Given the description of an element on the screen output the (x, y) to click on. 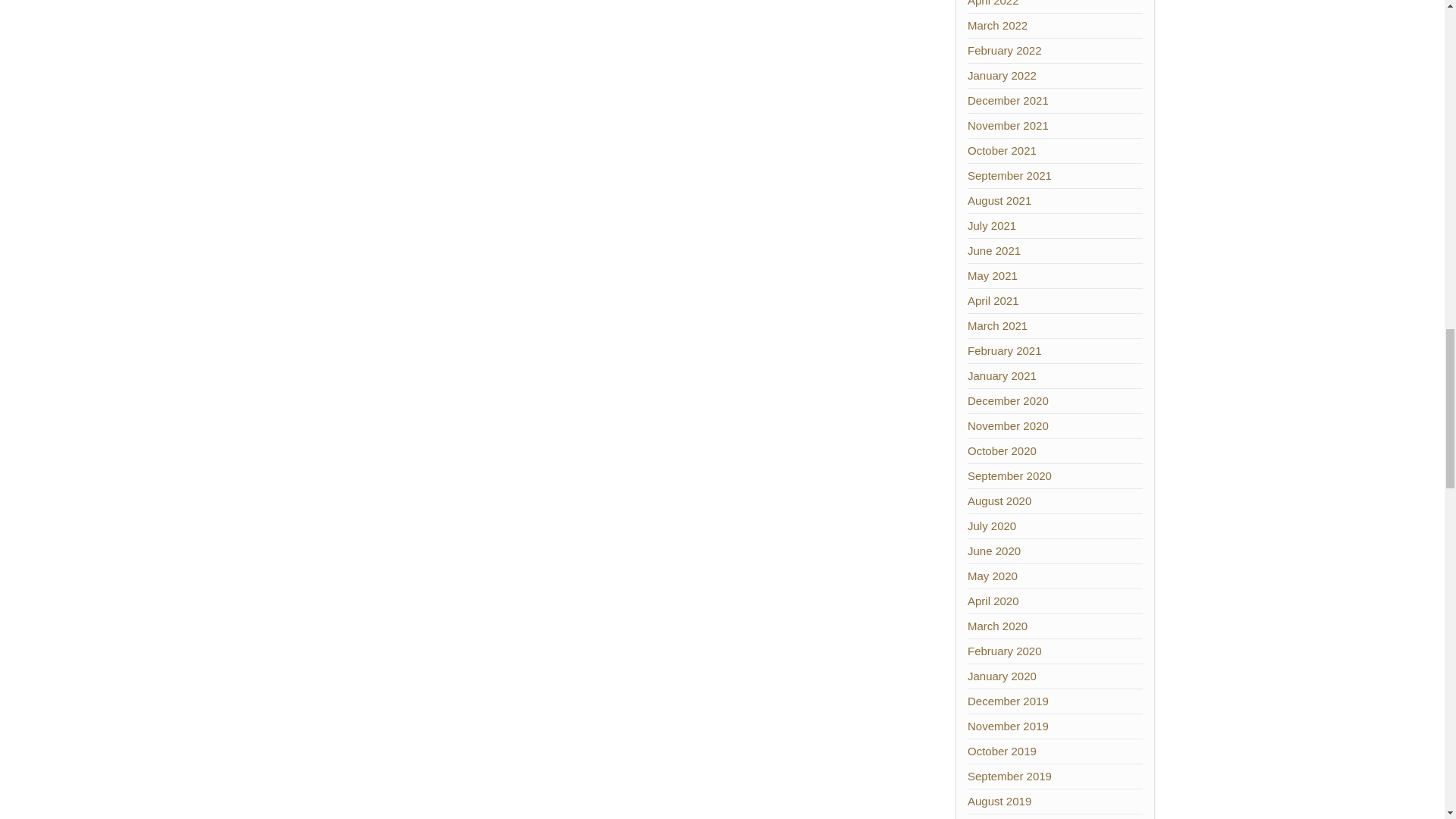
April 2022 (993, 3)
